Given the description of an element on the screen output the (x, y) to click on. 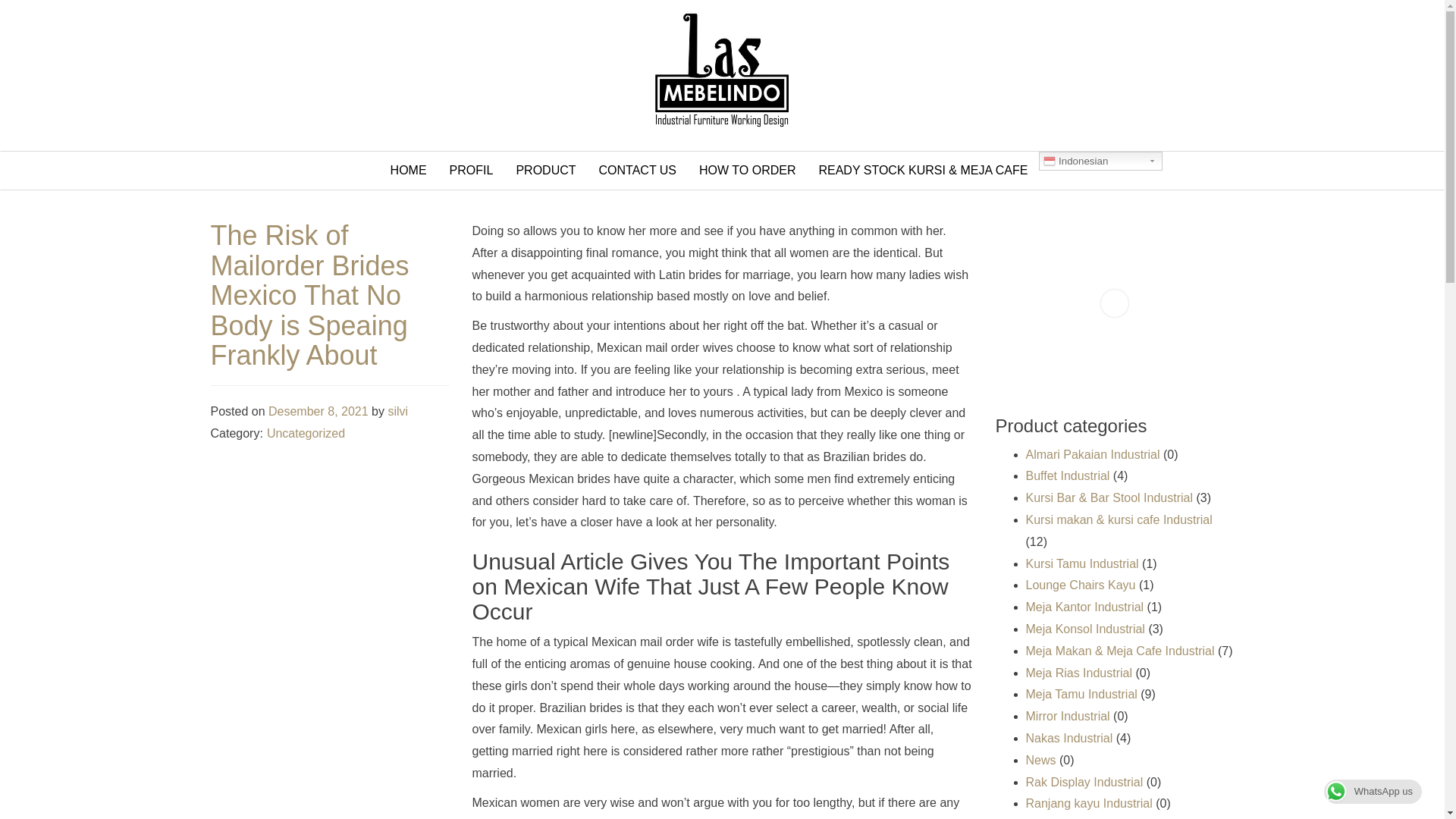
Meja Kantor Industrial (1083, 606)
PROFIL (471, 170)
Indonesian (1100, 160)
Meja Tamu Industrial (1081, 694)
Product (544, 170)
Mirror Industrial (1067, 716)
Meja Rias Industrial (1078, 672)
Almari Pakaian Industrial (1091, 454)
Nakas Industrial (1068, 738)
CONTACT US (638, 170)
How To Order (746, 170)
Meja Konsol Industrial (1084, 628)
PRODUCT (544, 170)
Uncategorized (305, 432)
HOW TO ORDER (746, 170)
